Given the description of an element on the screen output the (x, y) to click on. 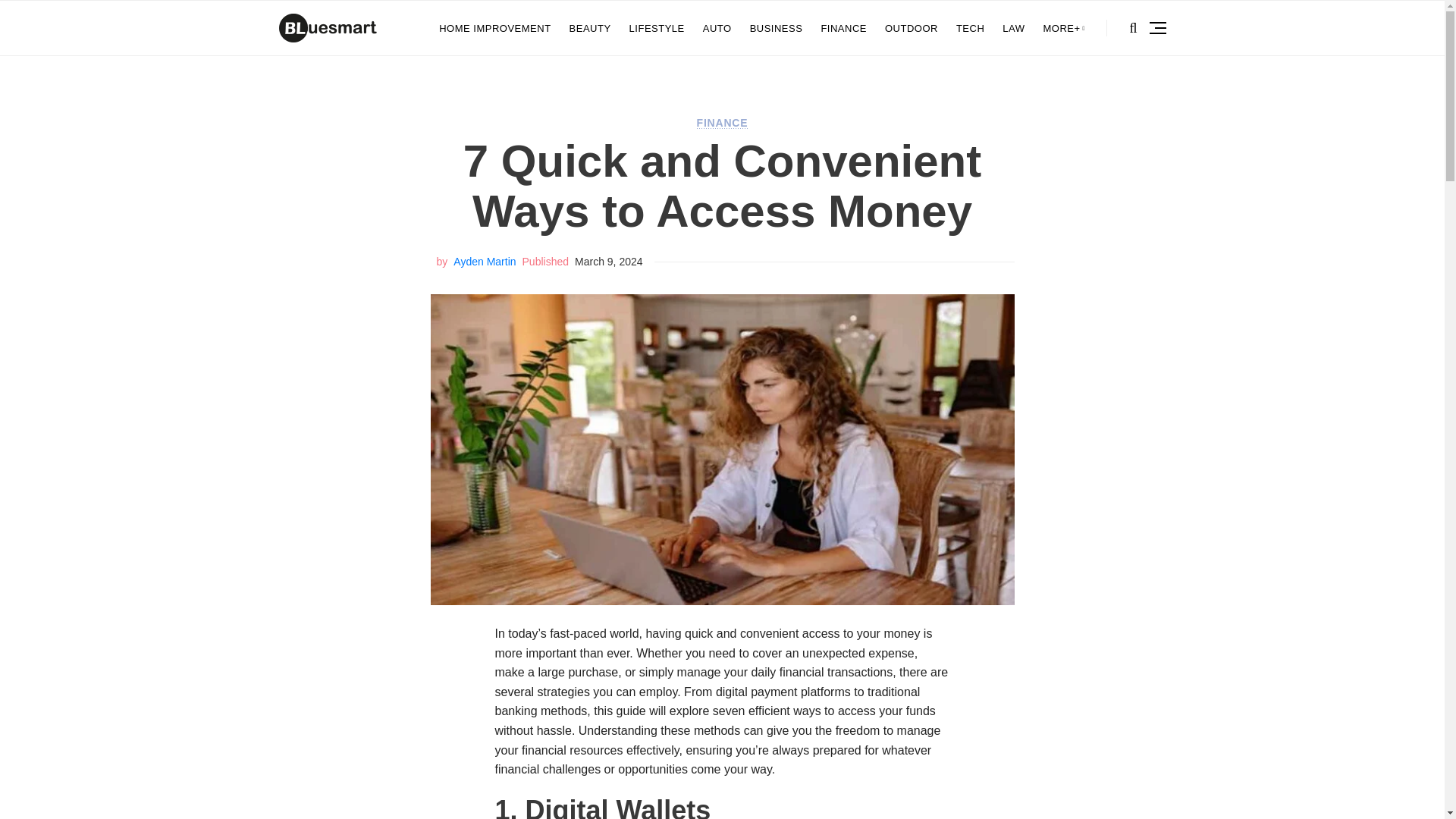
Ayden Martin (483, 261)
BEAUTY (590, 27)
Posts by Ayden Martin (483, 261)
LIFESTYLE (657, 27)
FINANCE (722, 122)
BUSINESS (776, 27)
FINANCE (843, 27)
OUTDOOR (911, 27)
HOME IMPROVEMENT (494, 27)
